Given the description of an element on the screen output the (x, y) to click on. 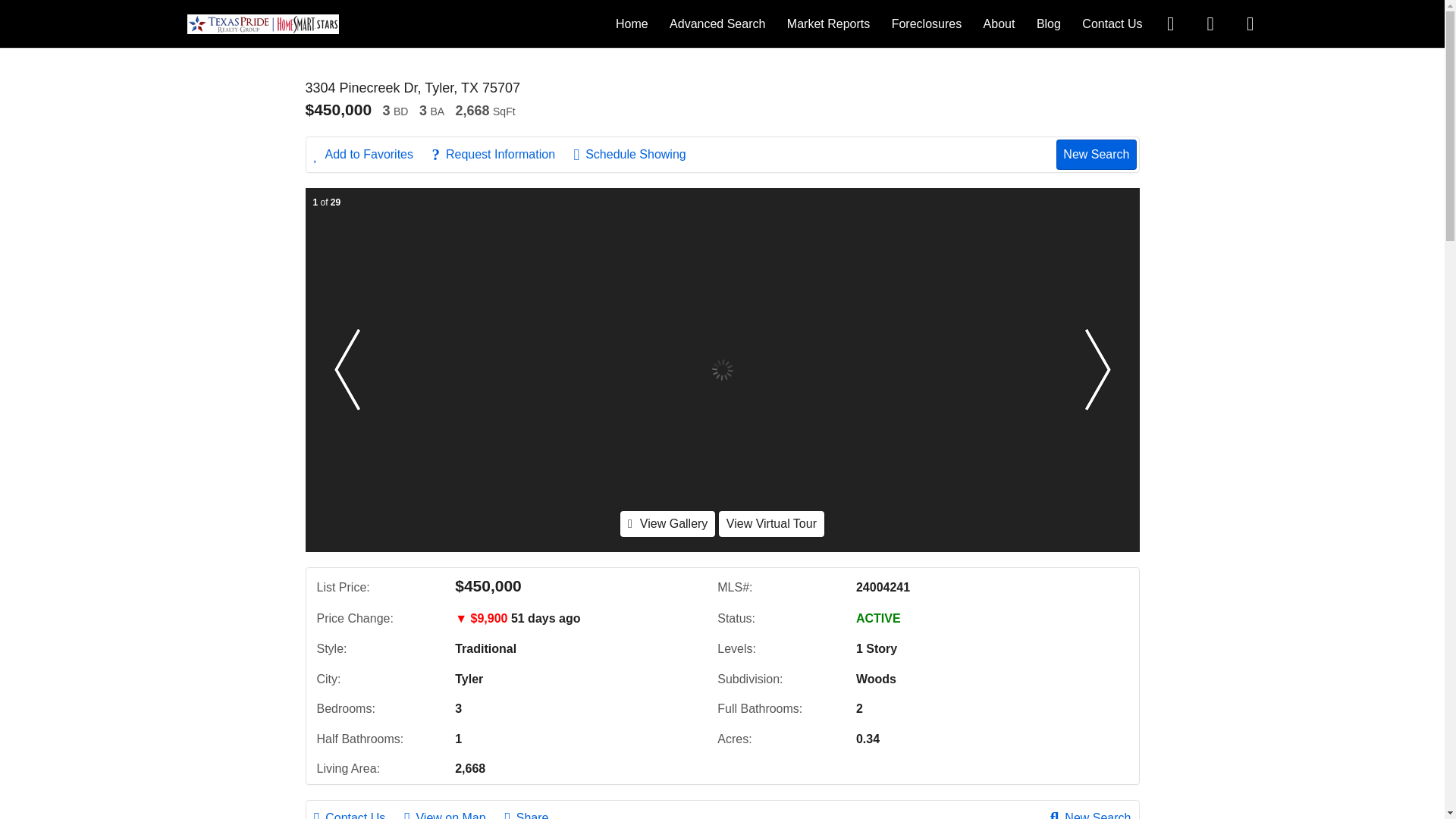
Market Reports (828, 23)
New Search (1090, 812)
View Virtual Tour (771, 524)
About (999, 23)
Advanced Search (717, 23)
Blog (1048, 23)
Contact Us (357, 812)
View on Map (452, 812)
Home (631, 23)
Share (533, 812)
